Given the description of an element on the screen output the (x, y) to click on. 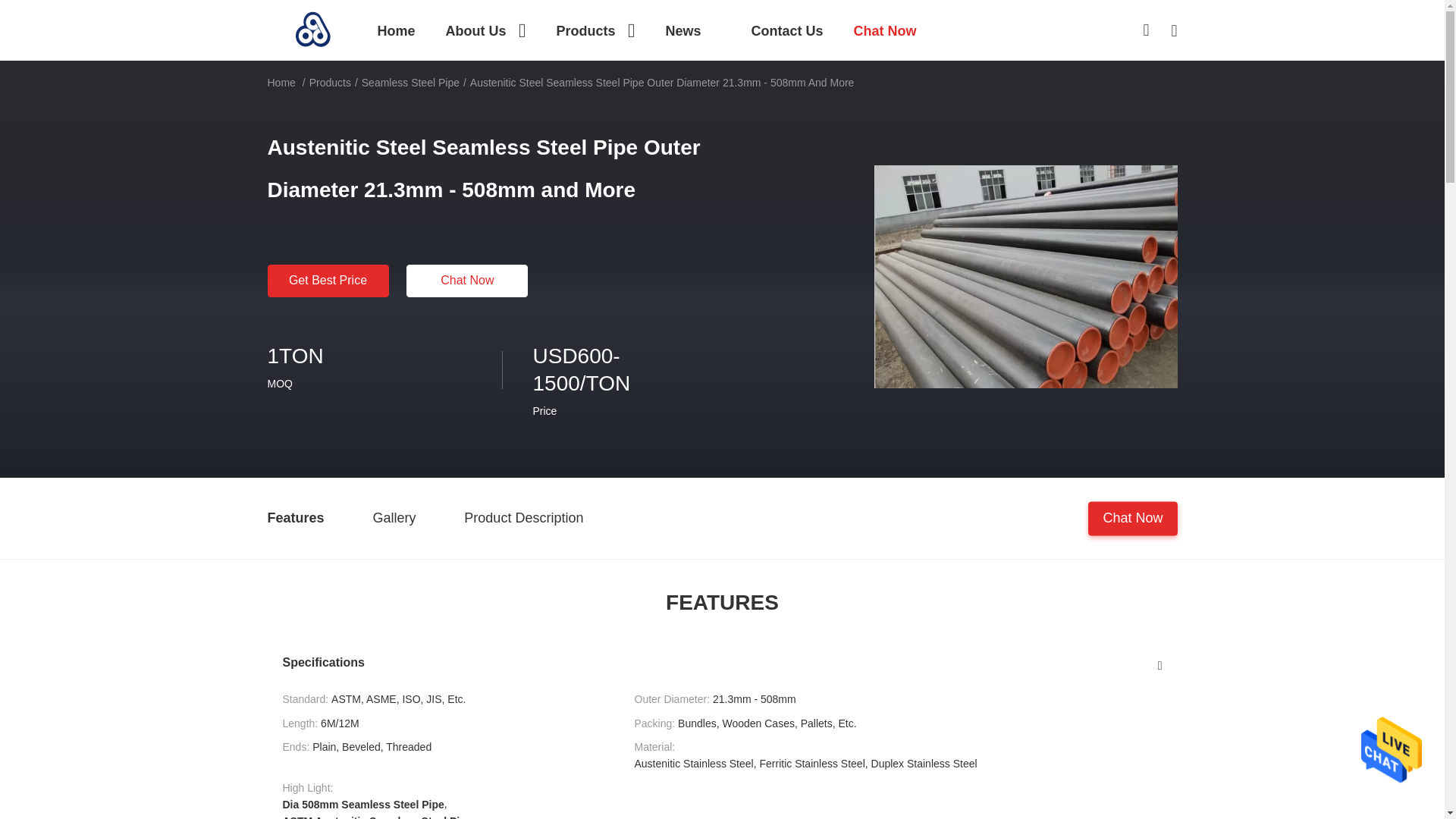
Joho Steel Co., Ltd (312, 28)
Home (395, 30)
Products (595, 30)
About Us (485, 30)
About Us (485, 30)
Products (595, 30)
Home (395, 30)
